Given the description of an element on the screen output the (x, y) to click on. 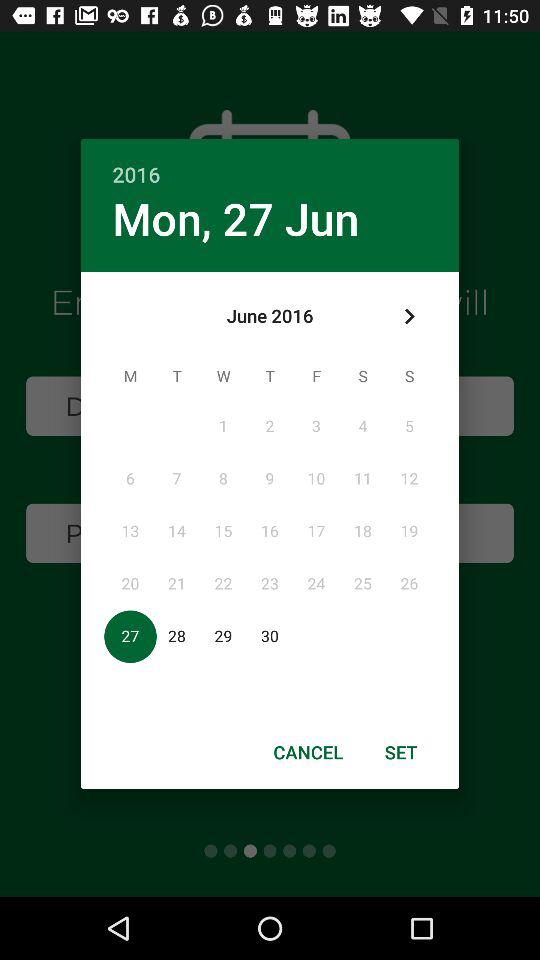
launch the icon to the left of set item (308, 751)
